Given the description of an element on the screen output the (x, y) to click on. 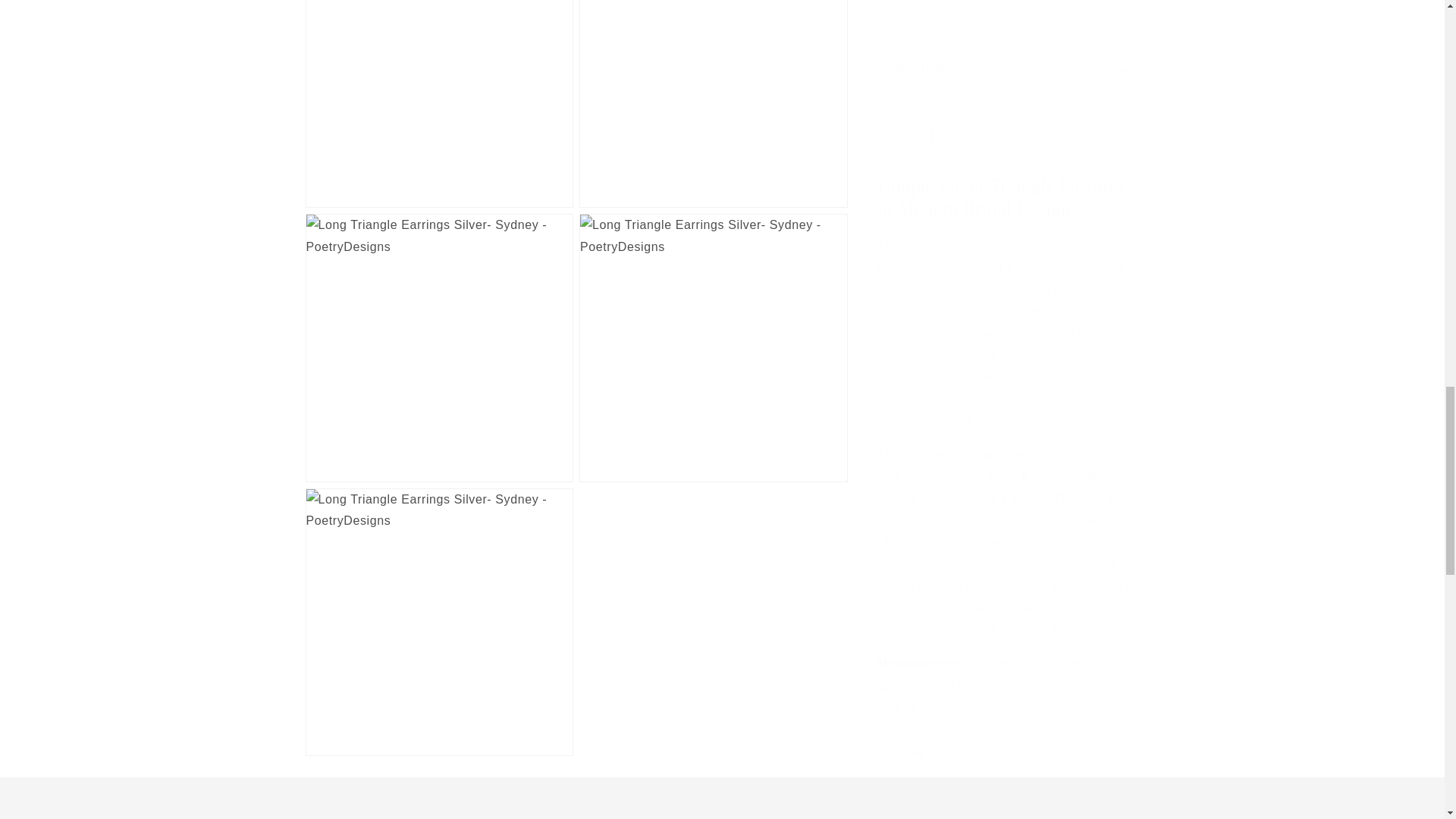
Open media 8 in modal (438, 96)
Open media 10 in modal (438, 332)
Open media 9 in modal (713, 96)
Open media 12 in modal (438, 607)
Open media 11 in modal (713, 332)
